Given the description of an element on the screen output the (x, y) to click on. 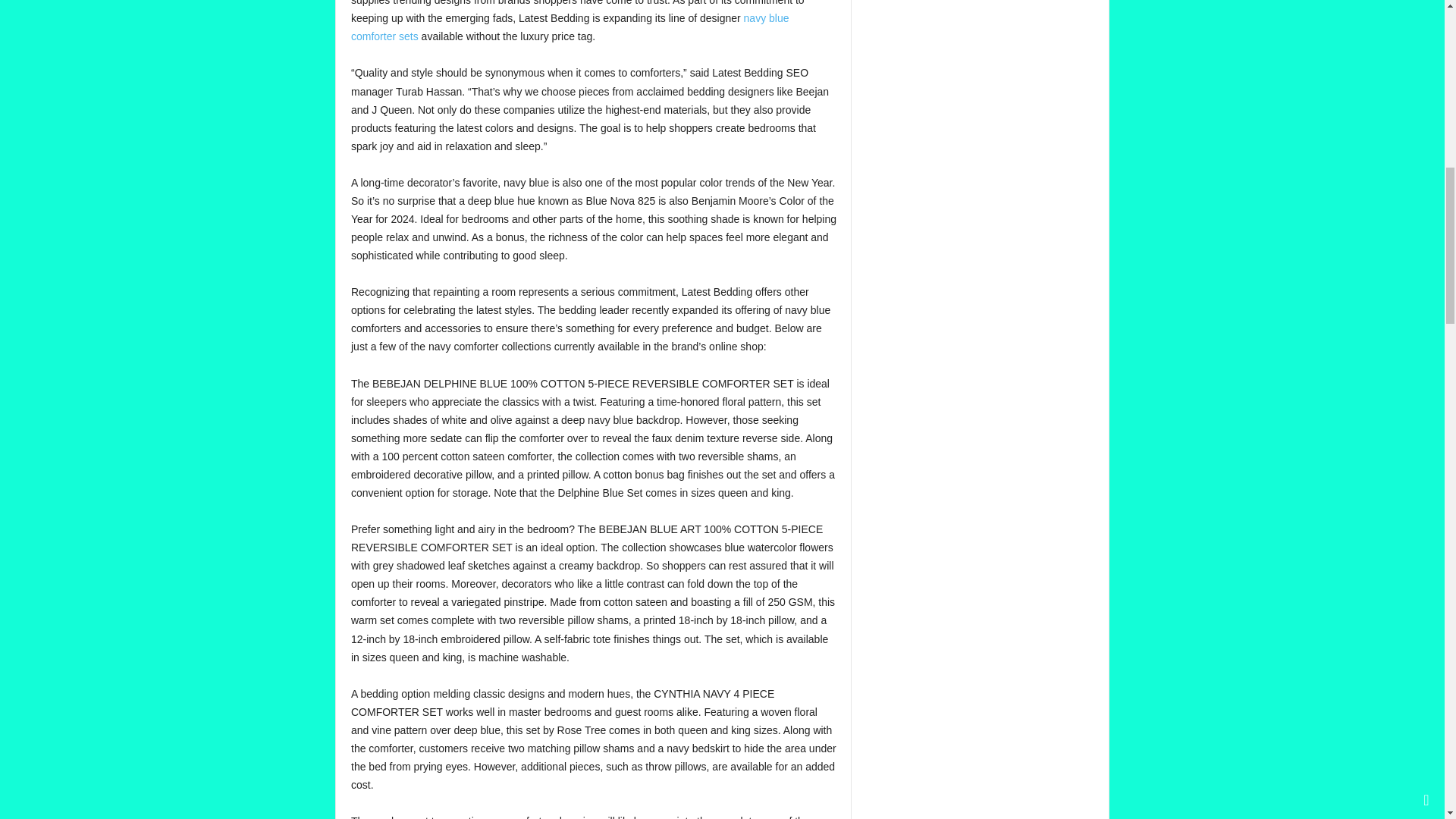
navy blue comforter sets (569, 27)
